Given the description of an element on the screen output the (x, y) to click on. 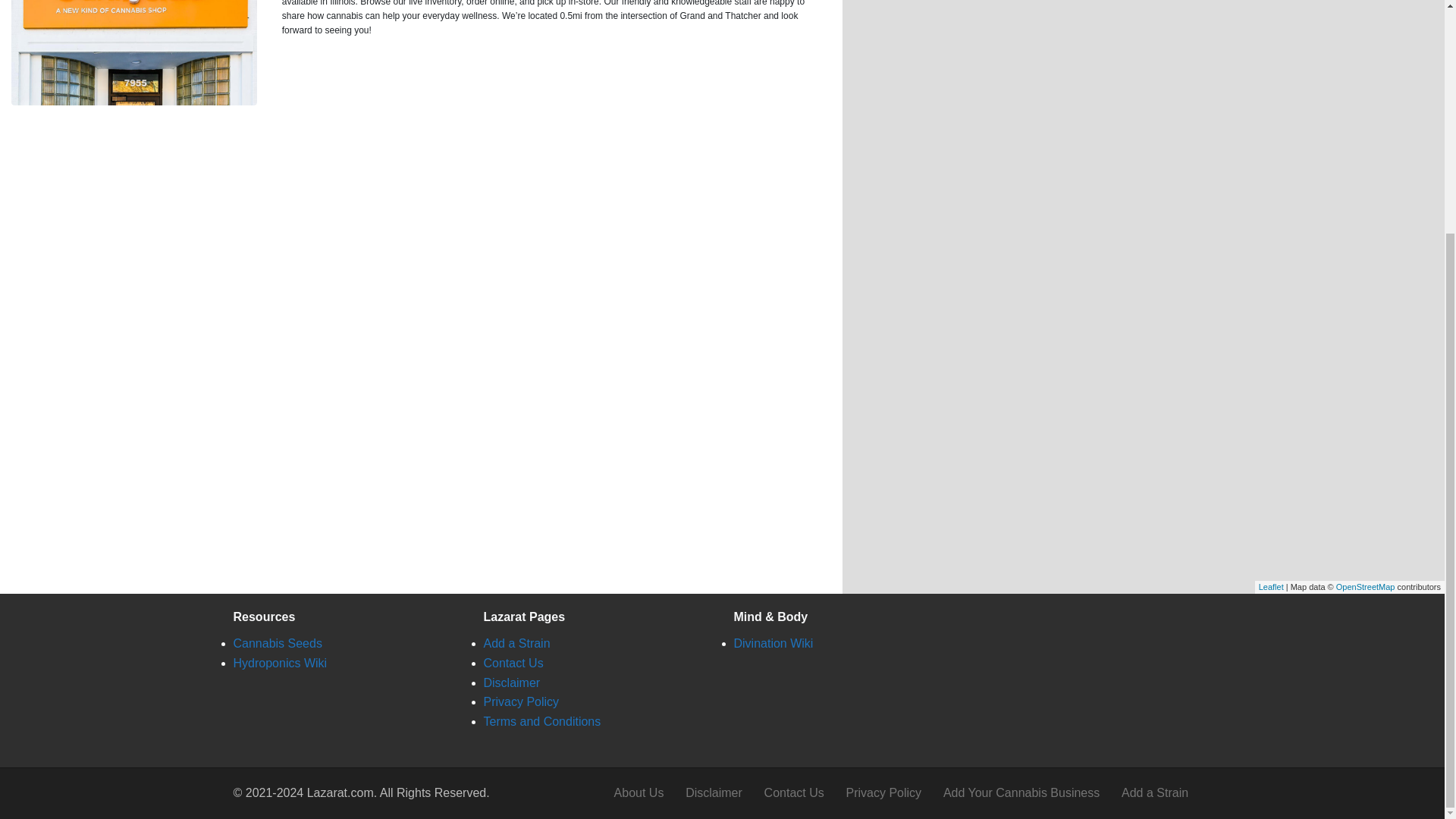
OpenStreetMap (1365, 586)
Contact Us (793, 793)
About Us (638, 793)
Add Your Cannabis Business (1021, 793)
A JS library for interactive maps (1271, 586)
Cannabis Seeds (276, 643)
Disclaimer (511, 682)
Contact Us (513, 662)
Hydroponics Wiki (279, 662)
Privacy Policy (882, 793)
Add a Strain (516, 643)
Terms and Conditions (542, 721)
Privacy Policy (521, 701)
Add a Strain (1154, 793)
Leaflet (1271, 586)
